Given the description of an element on the screen output the (x, y) to click on. 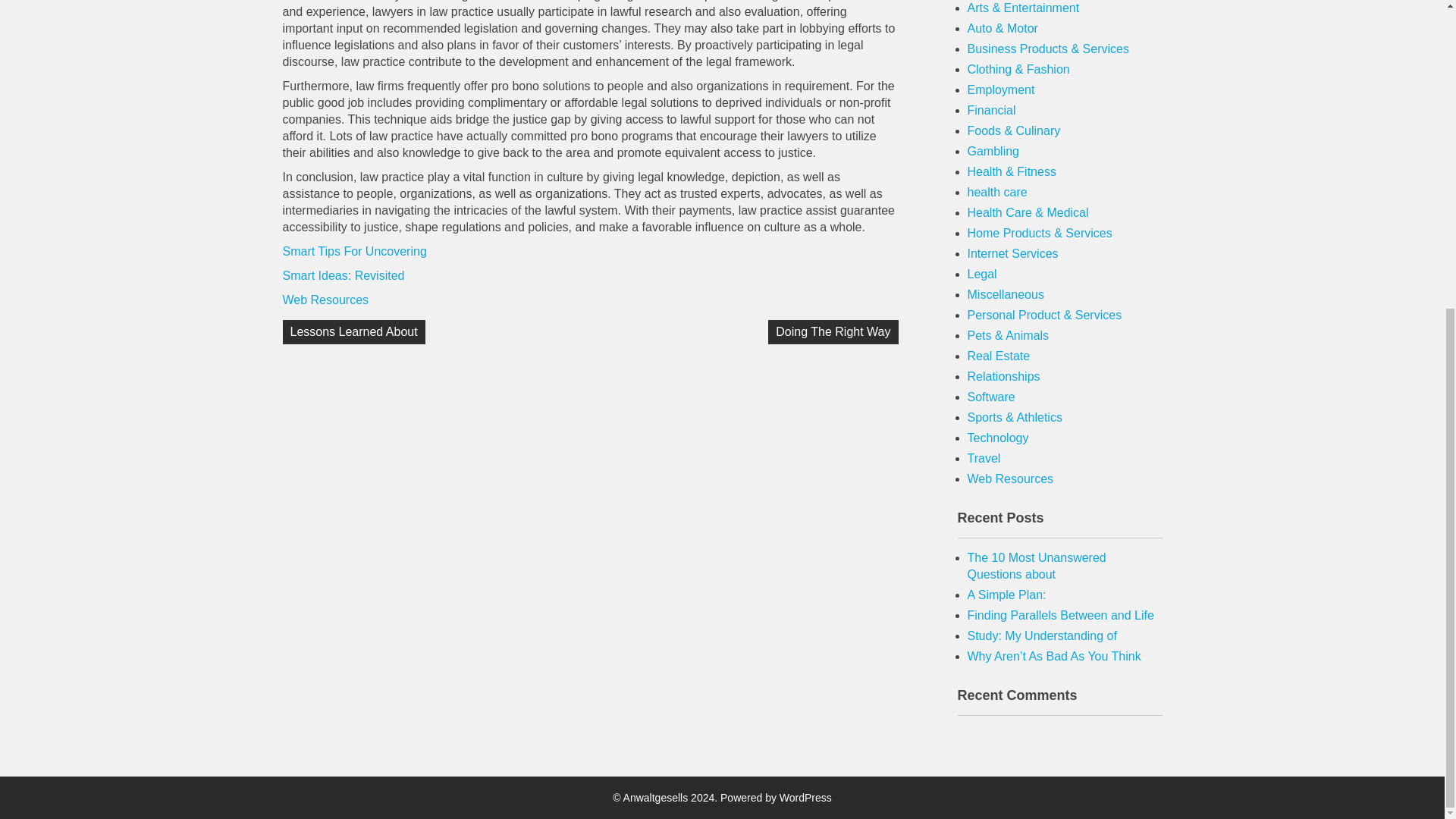
Smart Ideas: Revisited (343, 275)
Internet Services (1013, 253)
Doing The Right Way (833, 331)
Legal (982, 273)
Employment (1001, 89)
Smart Tips For Uncovering (354, 250)
Web Resources (325, 299)
health care (997, 192)
Gambling (993, 151)
Lessons Learned About (353, 331)
